Given the description of an element on the screen output the (x, y) to click on. 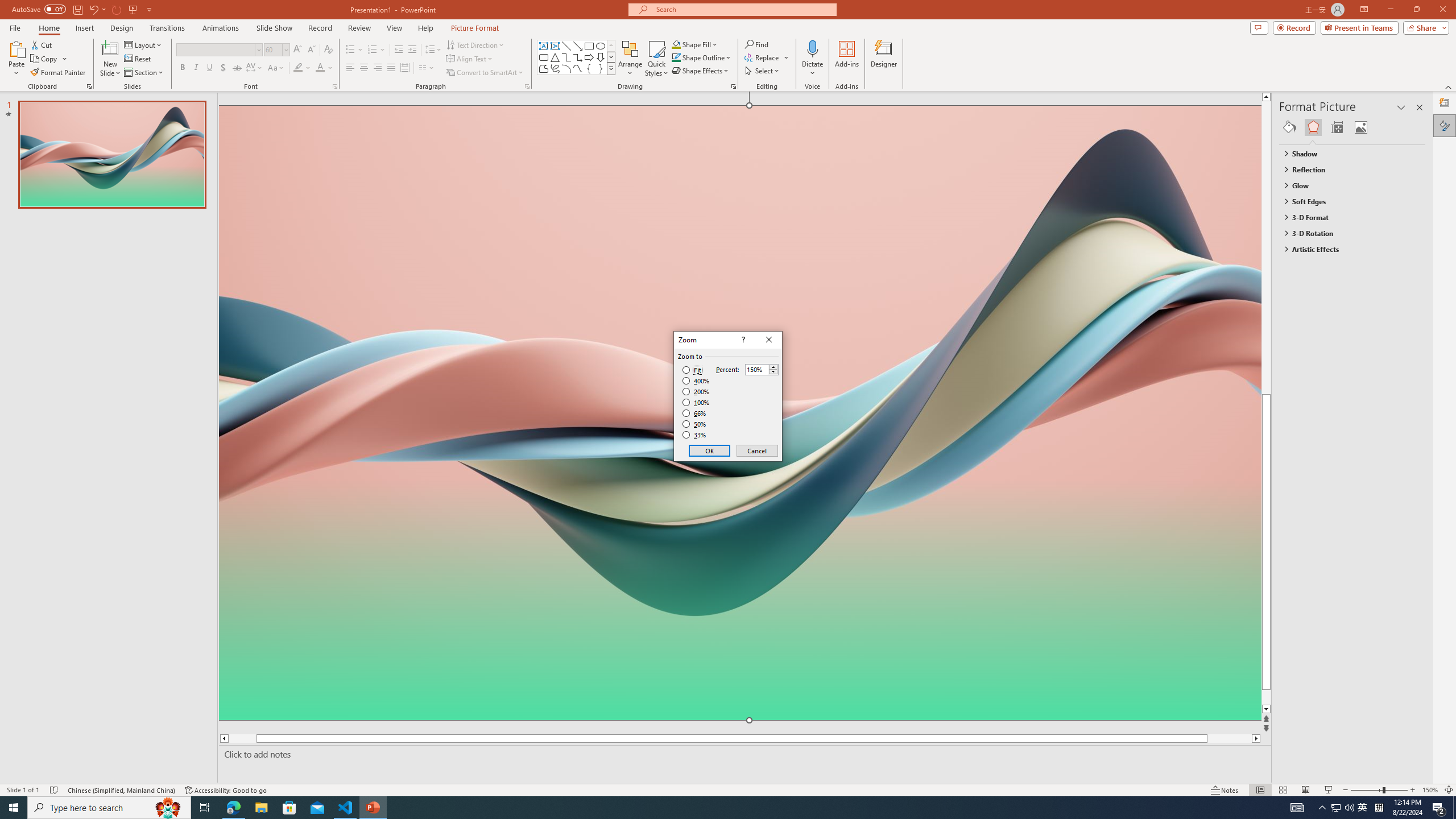
Size & Properties (1336, 126)
